Given the description of an element on the screen output the (x, y) to click on. 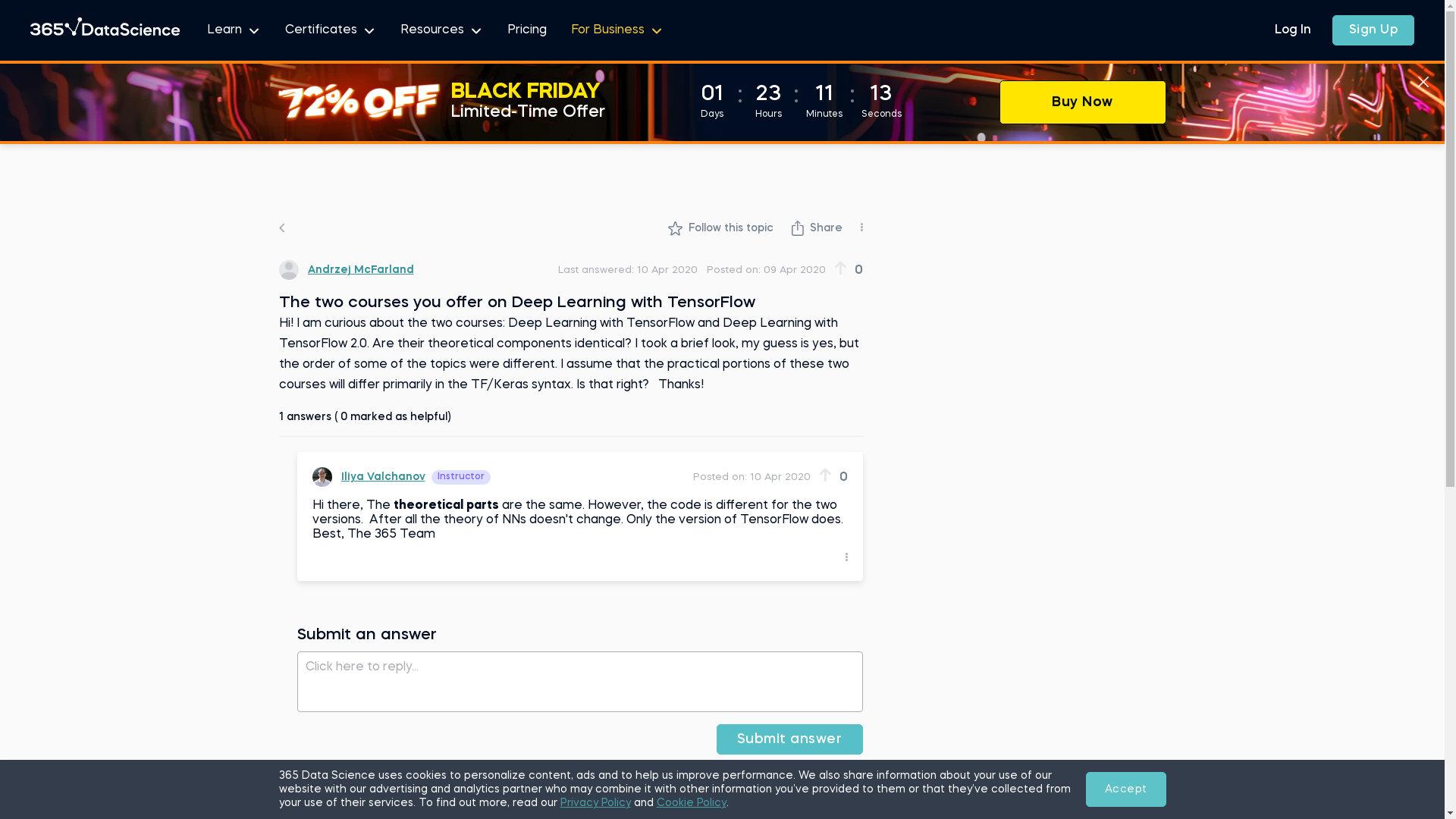
Privacy Policy Element type: text (594, 802)
Log In Element type: text (1292, 29)
Submit answer Element type: text (789, 739)
Andrzej McFarland Element type: text (346, 269)
Iliya Valchanov Element type: text (368, 476)
Pricing Element type: text (526, 29)
365 Data Science Element type: hover (104, 30)
Cookie Policy Element type: text (691, 802)
Buy Now Element type: text (1082, 102)
Sign Up Element type: text (1373, 30)
